Given the description of an element on the screen output the (x, y) to click on. 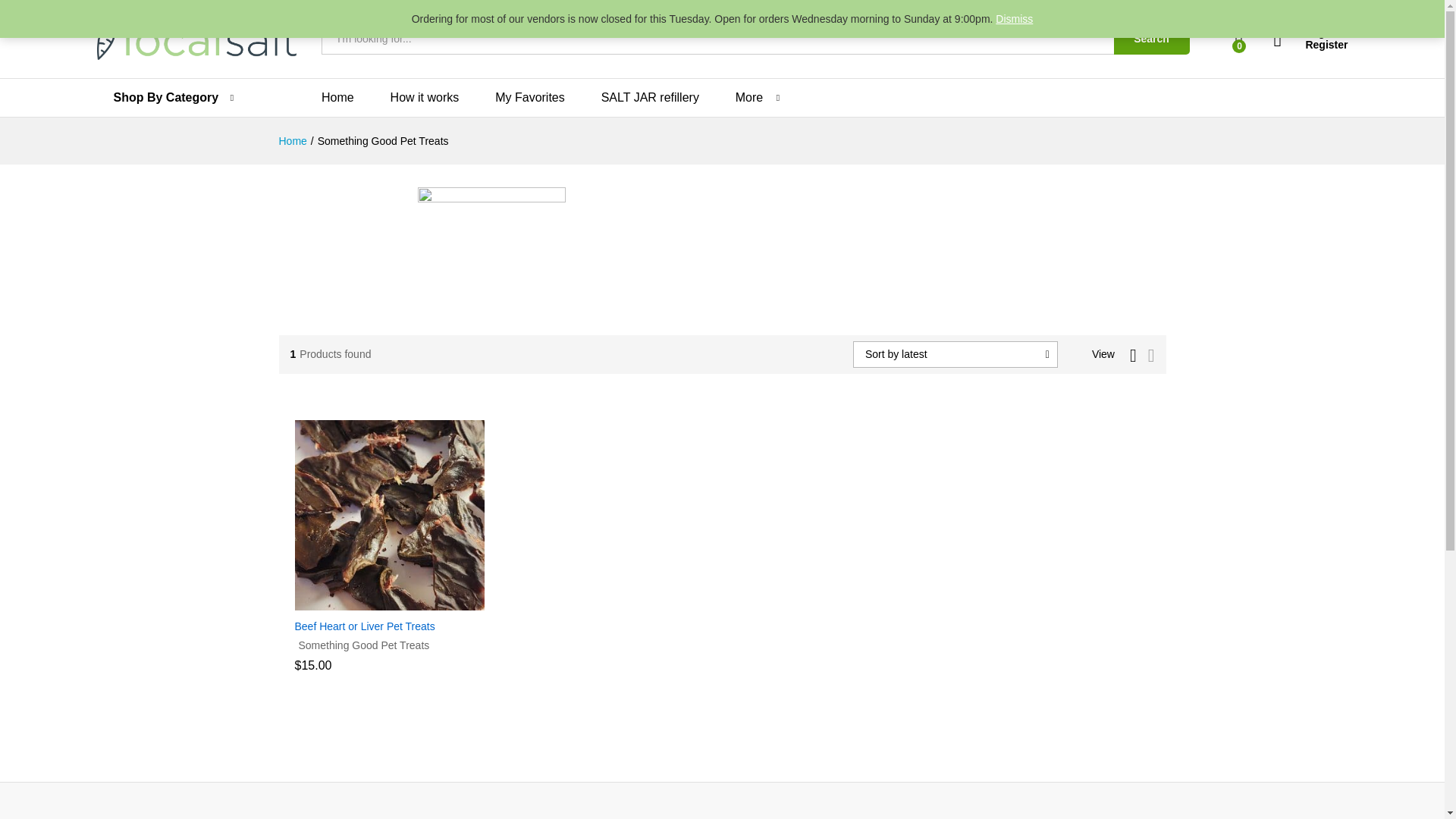
Log in (1310, 32)
Search (1151, 38)
Register (1310, 44)
